Given the description of an element on the screen output the (x, y) to click on. 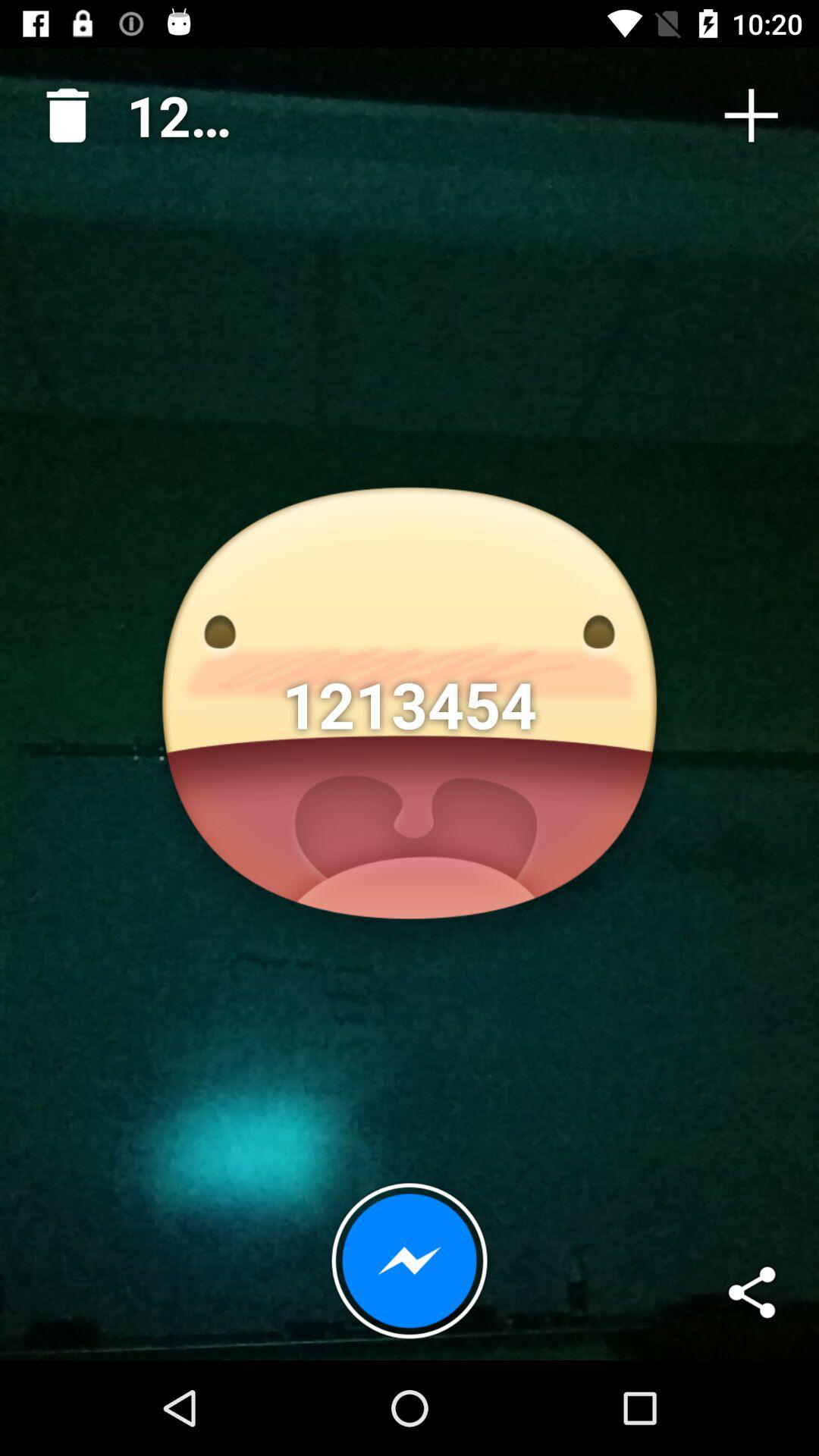
press icon at the top right corner (751, 115)
